Given the description of an element on the screen output the (x, y) to click on. 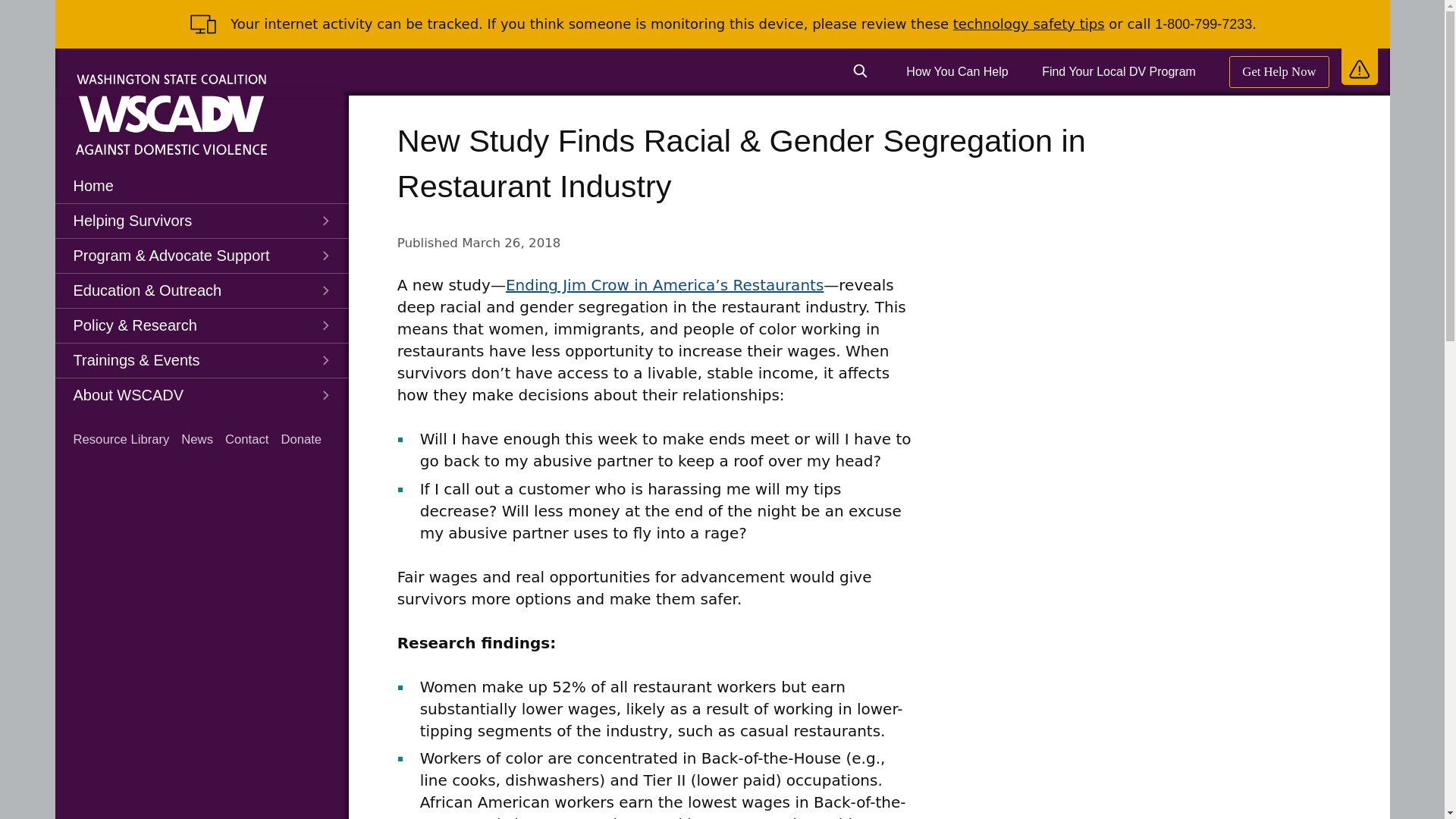
1-800-799-7233 (1203, 24)
Find Your Local DV Program (1118, 71)
How You Can Help (956, 71)
Search the site (860, 71)
Home (201, 185)
Get Help Now (1277, 71)
technology safety tips (1029, 23)
Safety Banner (1358, 65)
Helping Survivors (201, 220)
